Given the description of an element on the screen output the (x, y) to click on. 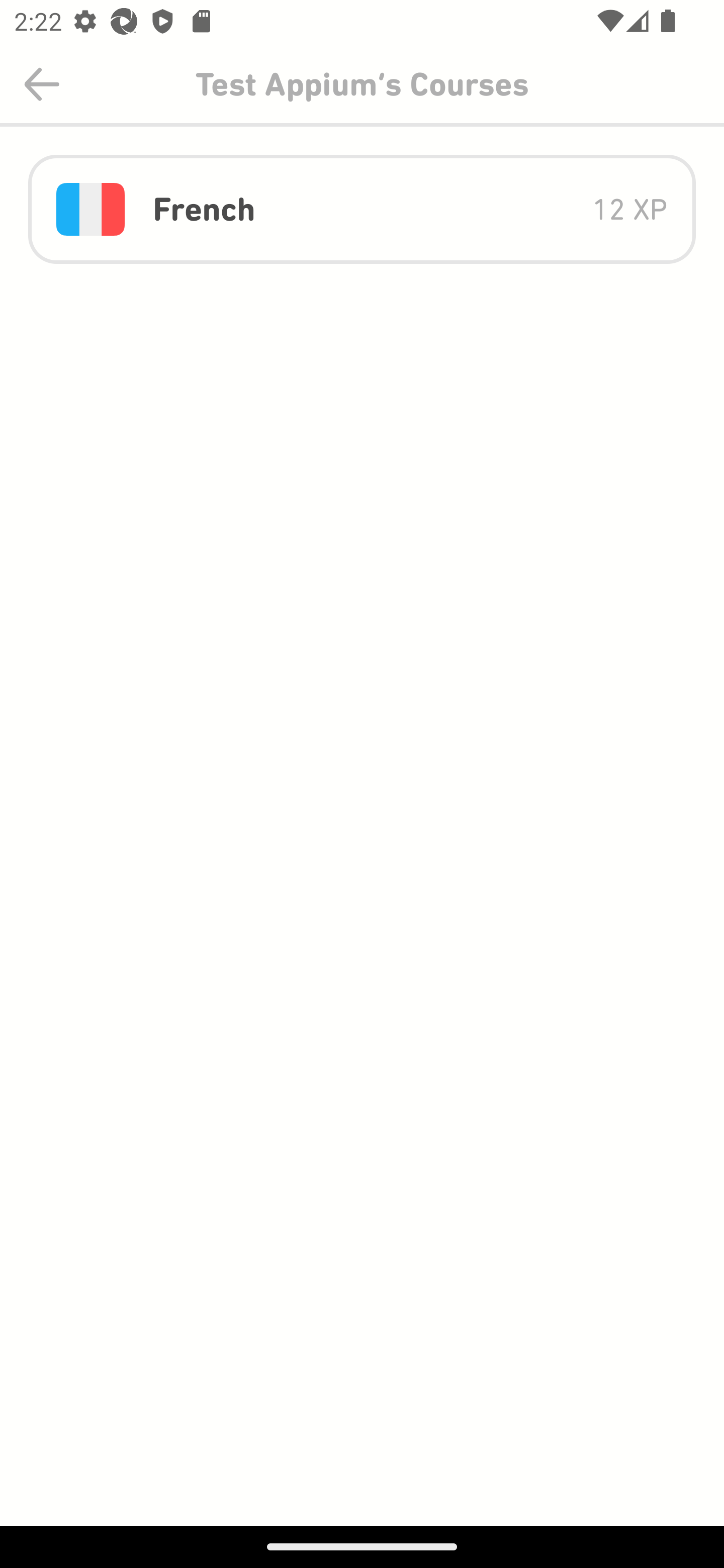
Back (41, 84)
